Given the description of an element on the screen output the (x, y) to click on. 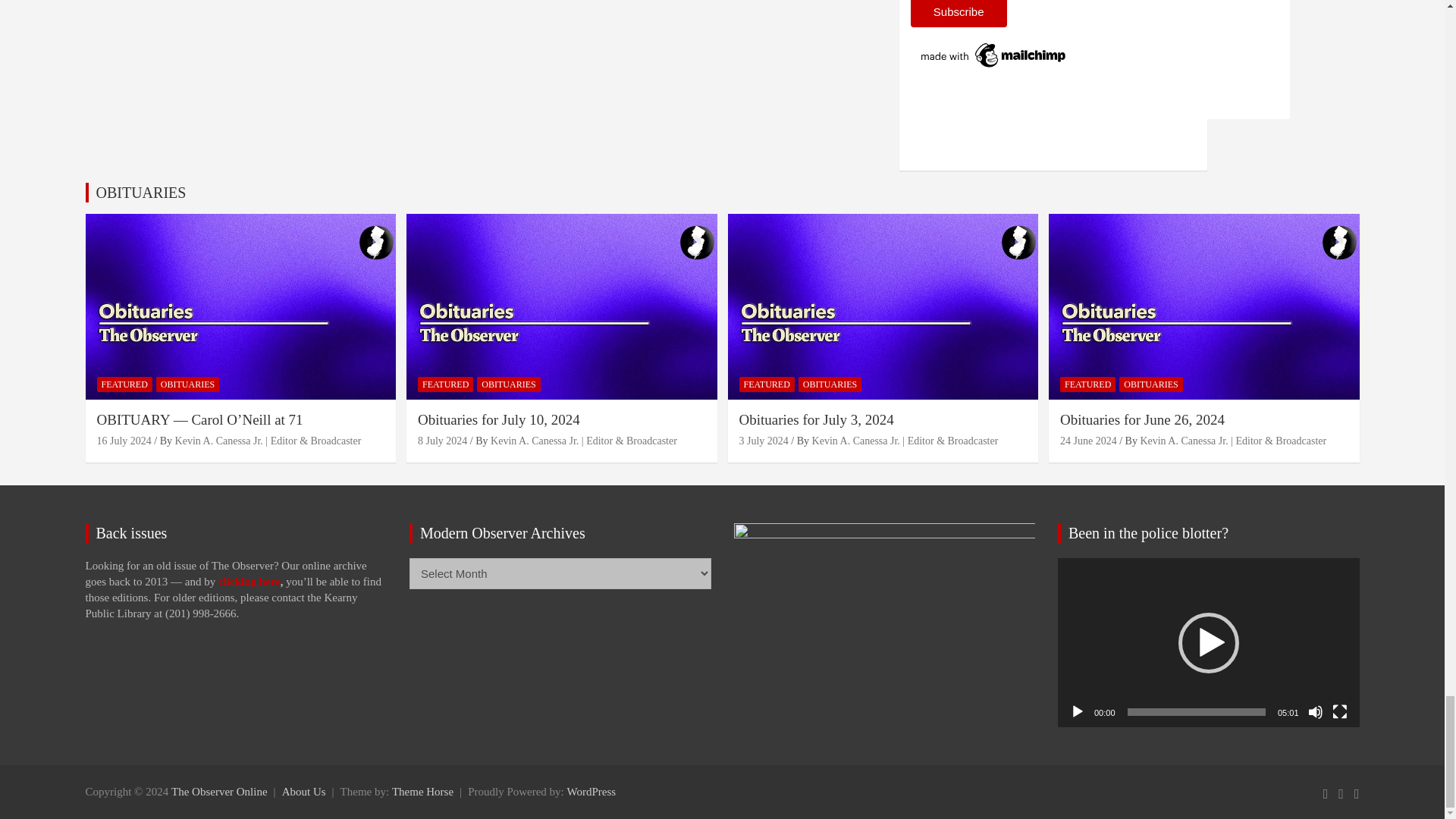
Subscribe (959, 13)
